Given the description of an element on the screen output the (x, y) to click on. 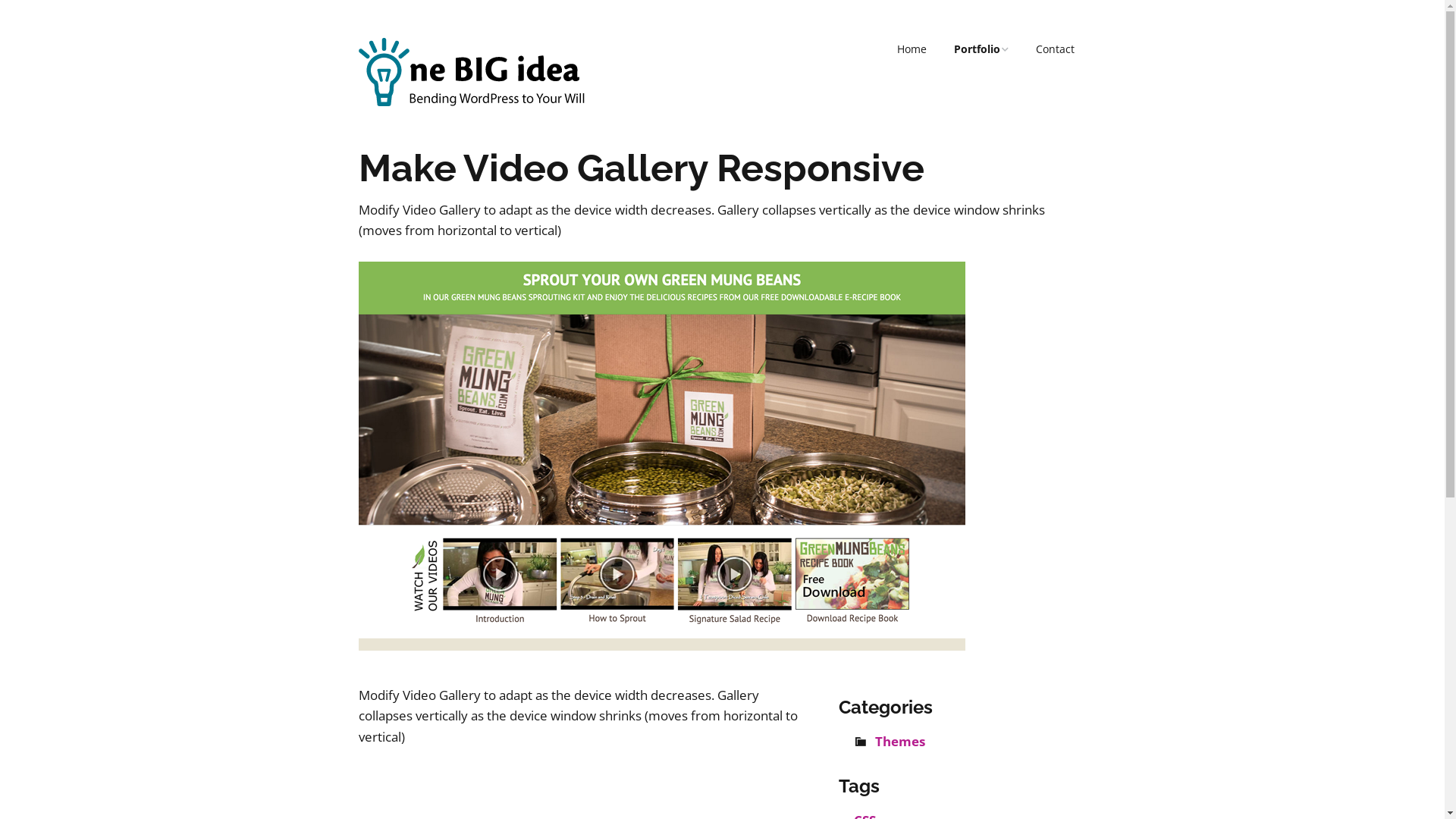
greenmungbeans Element type: hover (660, 645)
Portfolio Element type: text (980, 49)
Contact Element type: text (1054, 49)
Home Element type: text (911, 49)
Themes Element type: text (900, 740)
